Given the description of an element on the screen output the (x, y) to click on. 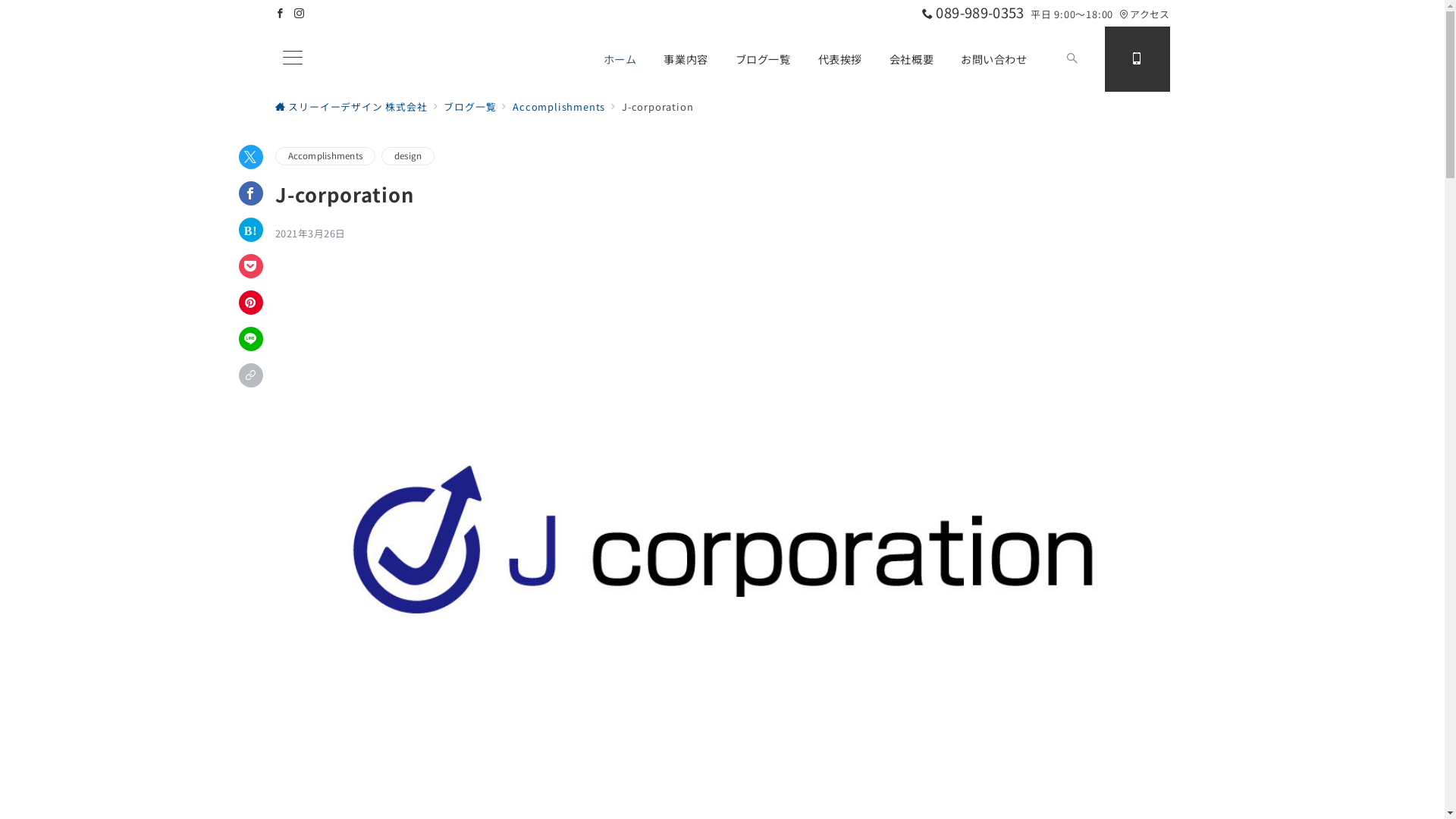
Accomplishments Element type: text (558, 106)
design Element type: text (407, 155)
Accomplishments Element type: text (324, 155)
